Given the description of an element on the screen output the (x, y) to click on. 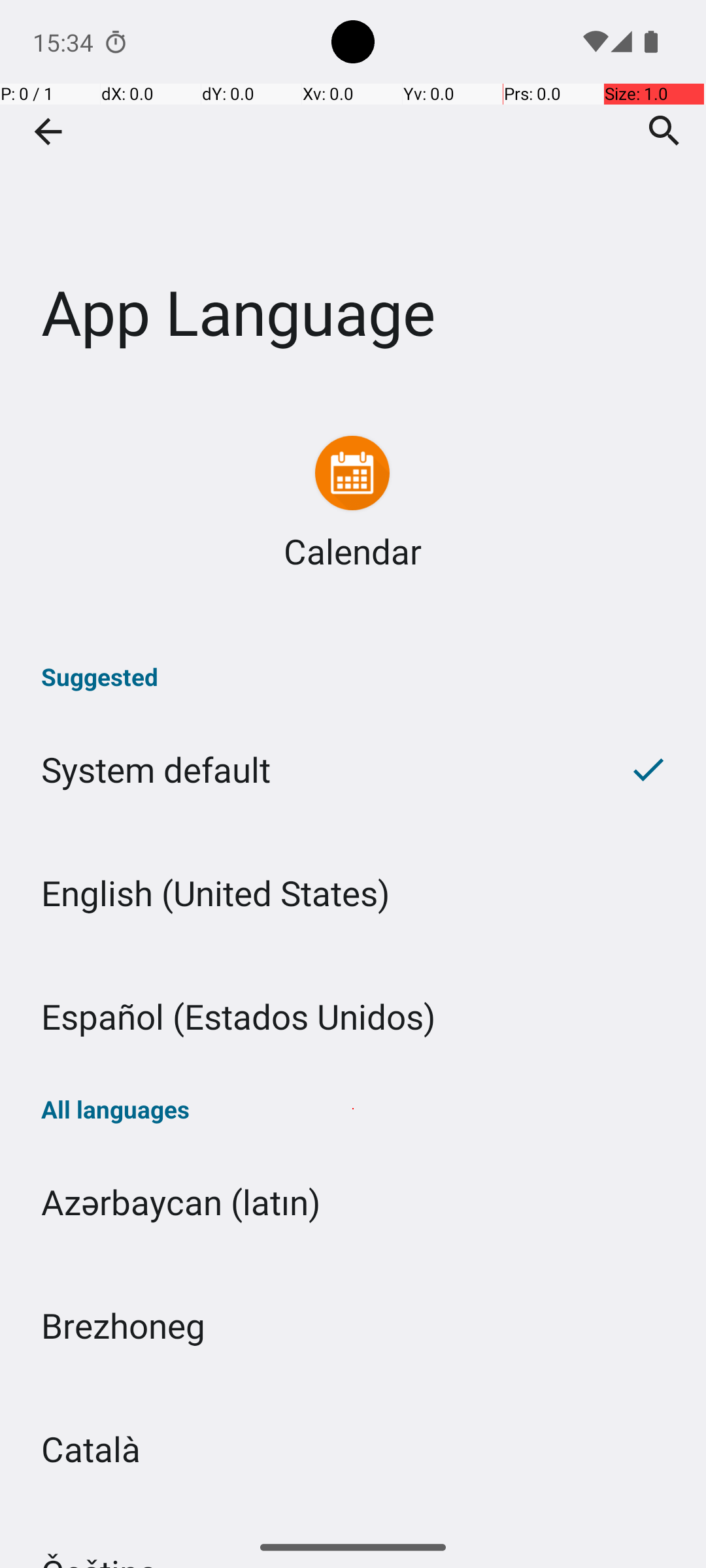
App Language Element type: android.widget.FrameLayout (353, 195)
Suggested Element type: android.widget.TextView (353, 676)
English (United States) Element type: android.widget.TextView (353, 892)
Español (Estados Unidos) Element type: android.widget.TextView (353, 1016)
All languages Element type: android.widget.TextView (353, 1109)
Azərbaycan (latın) Element type: android.widget.TextView (353, 1201)
Brezhoneg Element type: android.widget.TextView (353, 1325)
Català Element type: android.widget.TextView (353, 1448)
Čeština Element type: android.widget.TextView (353, 1518)
